Given the description of an element on the screen output the (x, y) to click on. 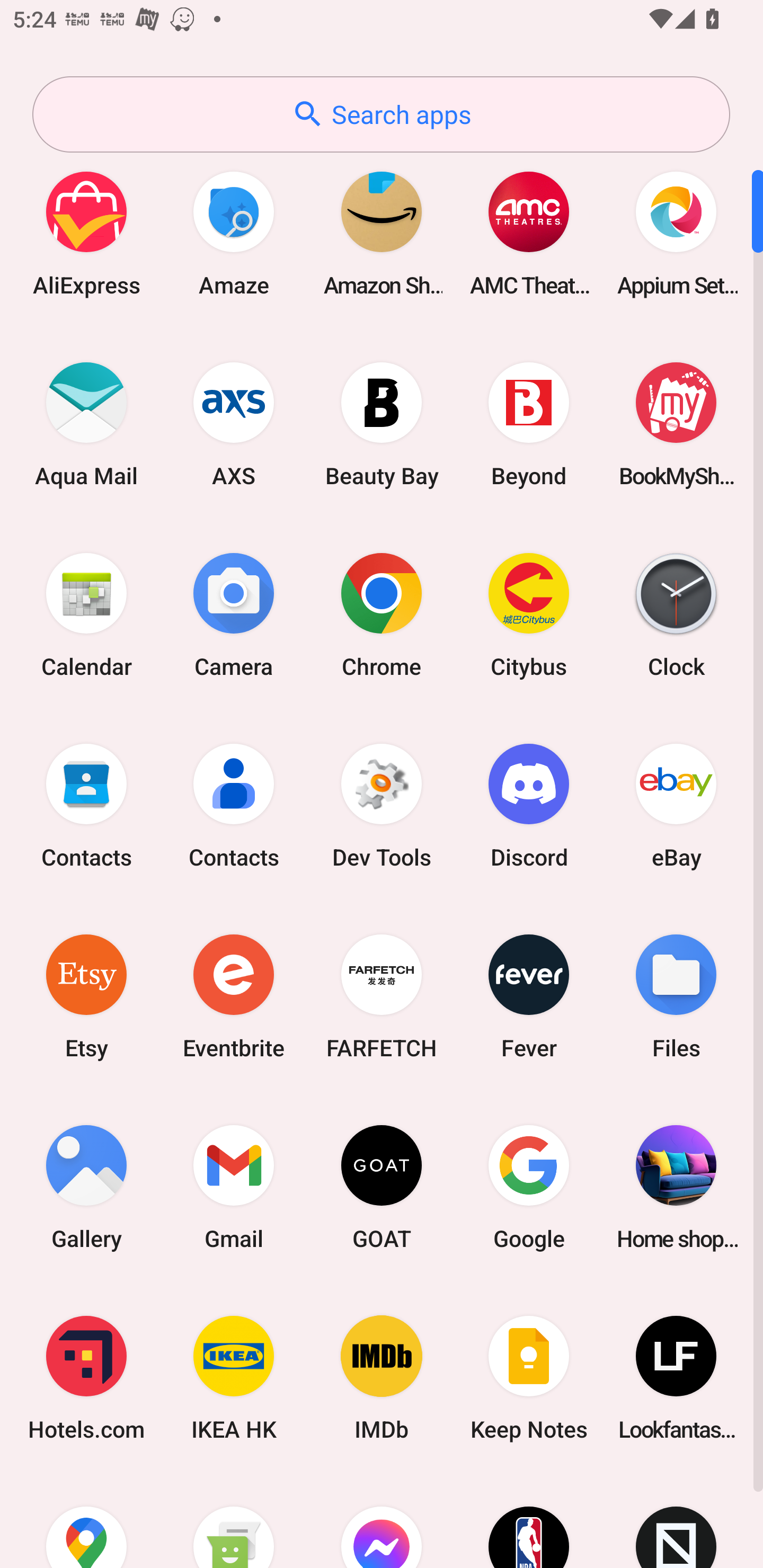
  Search apps (381, 114)
AliExpress (86, 233)
Amaze (233, 233)
Amazon Shopping (381, 233)
AMC Theatres (528, 233)
Appium Settings (676, 233)
Aqua Mail (86, 424)
AXS (233, 424)
Beauty Bay (381, 424)
Beyond (528, 424)
BookMyShow (676, 424)
Calendar (86, 614)
Camera (233, 614)
Chrome (381, 614)
Citybus (528, 614)
Clock (676, 614)
Contacts (86, 805)
Contacts (233, 805)
Dev Tools (381, 805)
Discord (528, 805)
eBay (676, 805)
Etsy (86, 996)
Eventbrite (233, 996)
FARFETCH (381, 996)
Fever (528, 996)
Files (676, 996)
Gallery (86, 1186)
Gmail (233, 1186)
GOAT (381, 1186)
Google (528, 1186)
Home shopping (676, 1186)
Hotels.com (86, 1377)
IKEA HK (233, 1377)
IMDb (381, 1377)
Keep Notes (528, 1377)
Lookfantastic (676, 1377)
Maps (86, 1520)
Messaging (233, 1520)
Messenger (381, 1520)
NBA (528, 1520)
Novelship (676, 1520)
